Given the description of an element on the screen output the (x, y) to click on. 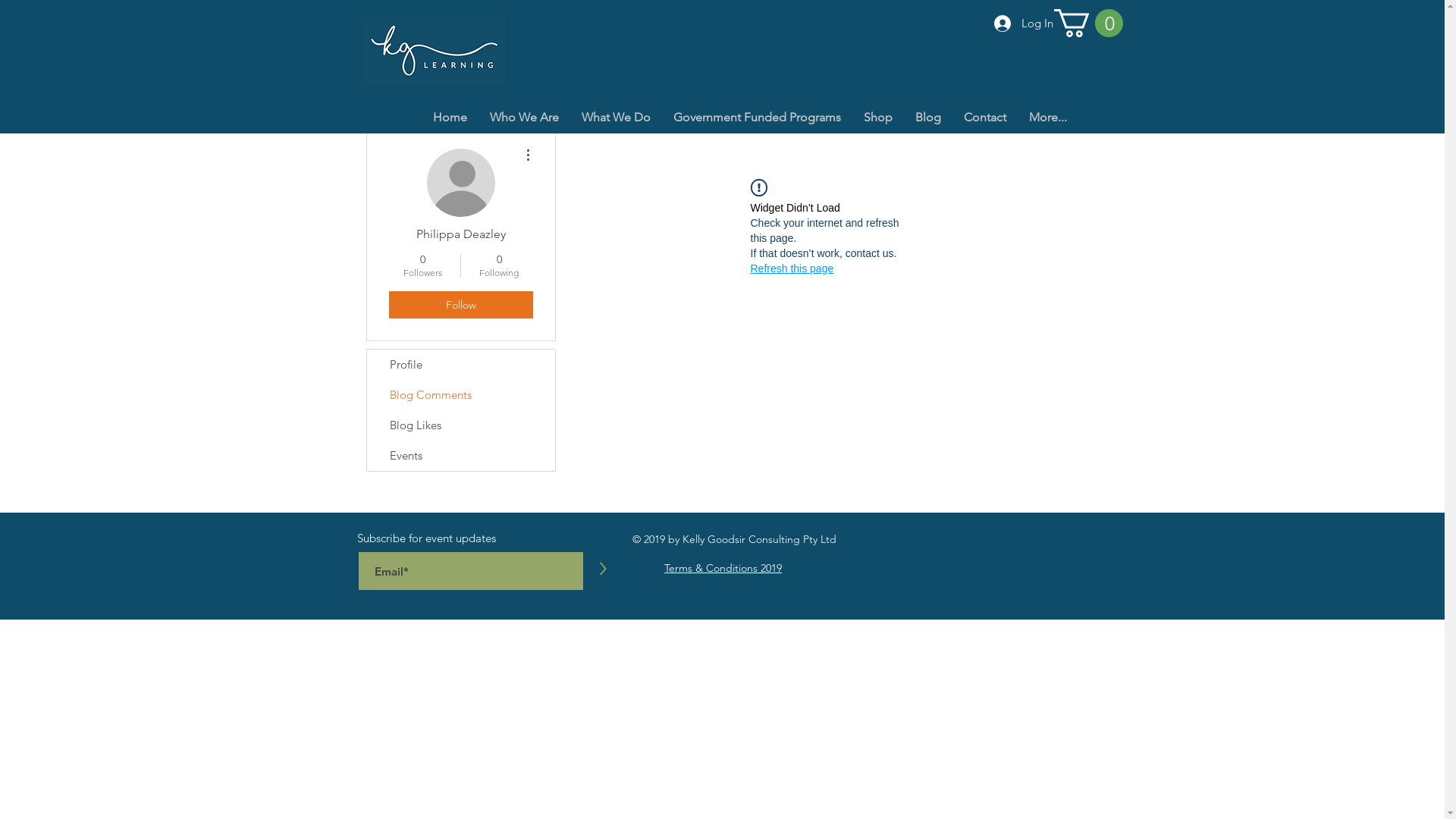
Log In Element type: text (1022, 23)
Contact Element type: text (984, 116)
Government Funded Programs Element type: text (756, 116)
Profile Element type: text (461, 364)
0
Following Element type: text (499, 265)
Events Element type: text (461, 455)
Blog Element type: text (927, 116)
Who We Are Element type: text (523, 116)
What We Do Element type: text (616, 116)
0
Followers Element type: text (421, 265)
Blog Comments Element type: text (461, 394)
Terms & Conditions 2019 Element type: text (722, 567)
> Element type: text (602, 568)
Home Element type: text (449, 116)
Follow Element type: text (460, 304)
Shop Element type: text (877, 116)
Refresh this page Element type: text (792, 268)
0 Element type: text (1088, 23)
Blog Likes Element type: text (461, 425)
